Given the description of an element on the screen output the (x, y) to click on. 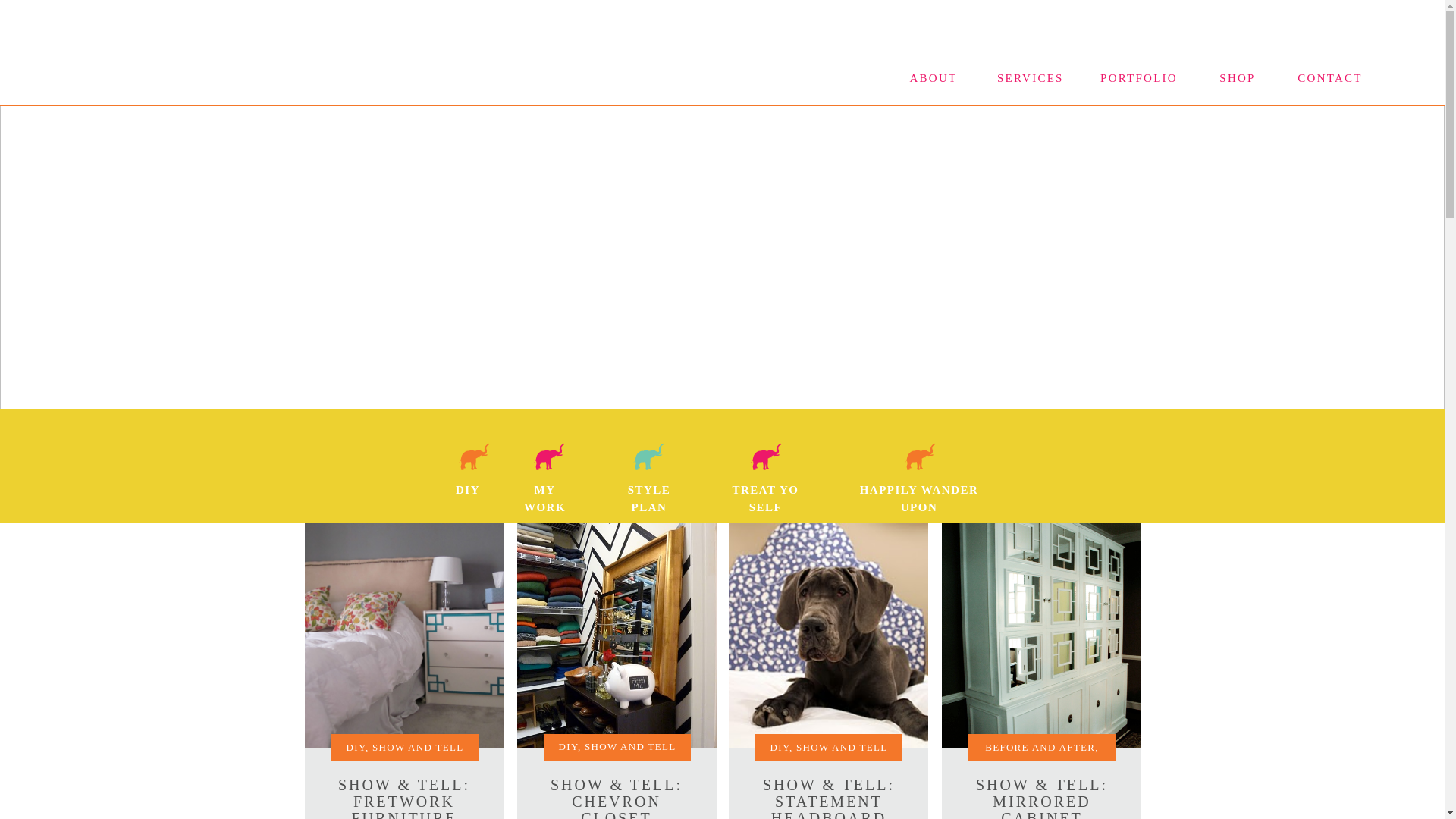
ABOUT (933, 78)
STYLE PLAN (648, 490)
DIY (467, 490)
SERVICES (1029, 78)
MY WORK (544, 490)
SHOW AND TELL (630, 746)
DIY (779, 747)
SHOP (1237, 78)
CONTACT (1329, 78)
TREAT YO SELF (764, 490)
PORTFOLIO (1138, 78)
DIY (568, 746)
DIY (355, 747)
SHOW AND TELL (417, 747)
HAPPILY WANDER UPON (918, 490)
